Given the description of an element on the screen output the (x, y) to click on. 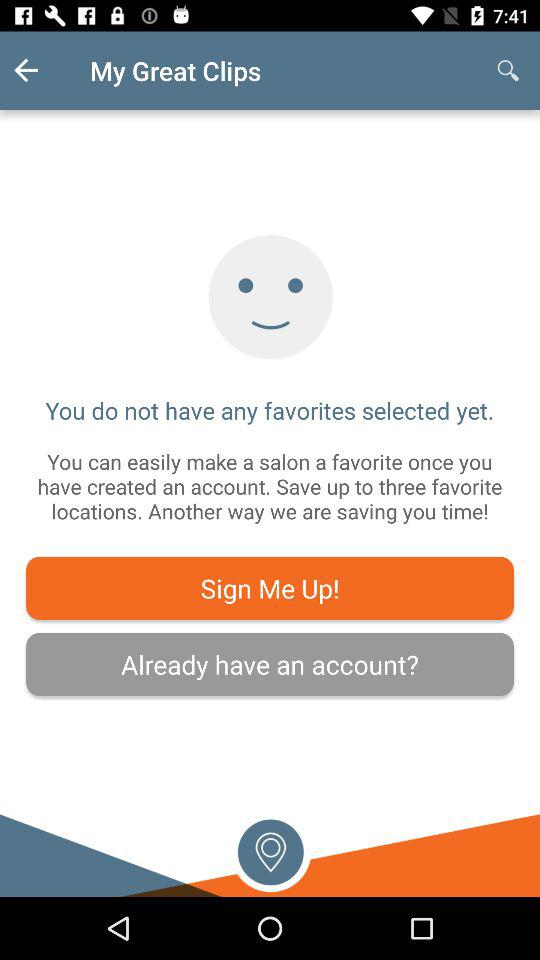
get current location (270, 850)
